Given the description of an element on the screen output the (x, y) to click on. 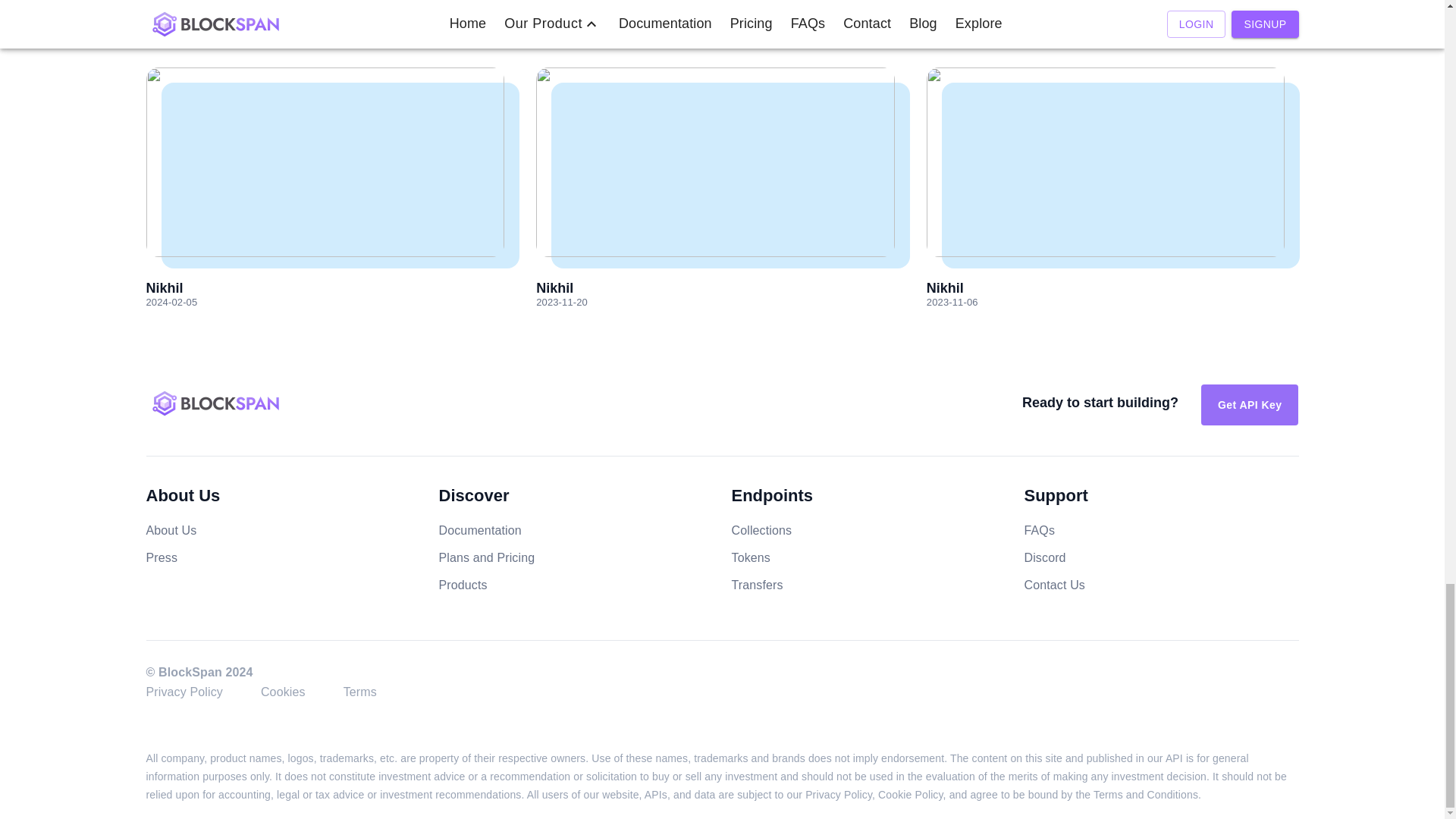
Documentation (479, 530)
Cookies (282, 690)
Privacy Policy (183, 690)
About Us (170, 530)
Discord (1044, 557)
Plans and Pricing (486, 557)
Transfers (756, 584)
Contact Us (1053, 584)
FAQs (1038, 530)
